Given the description of an element on the screen output the (x, y) to click on. 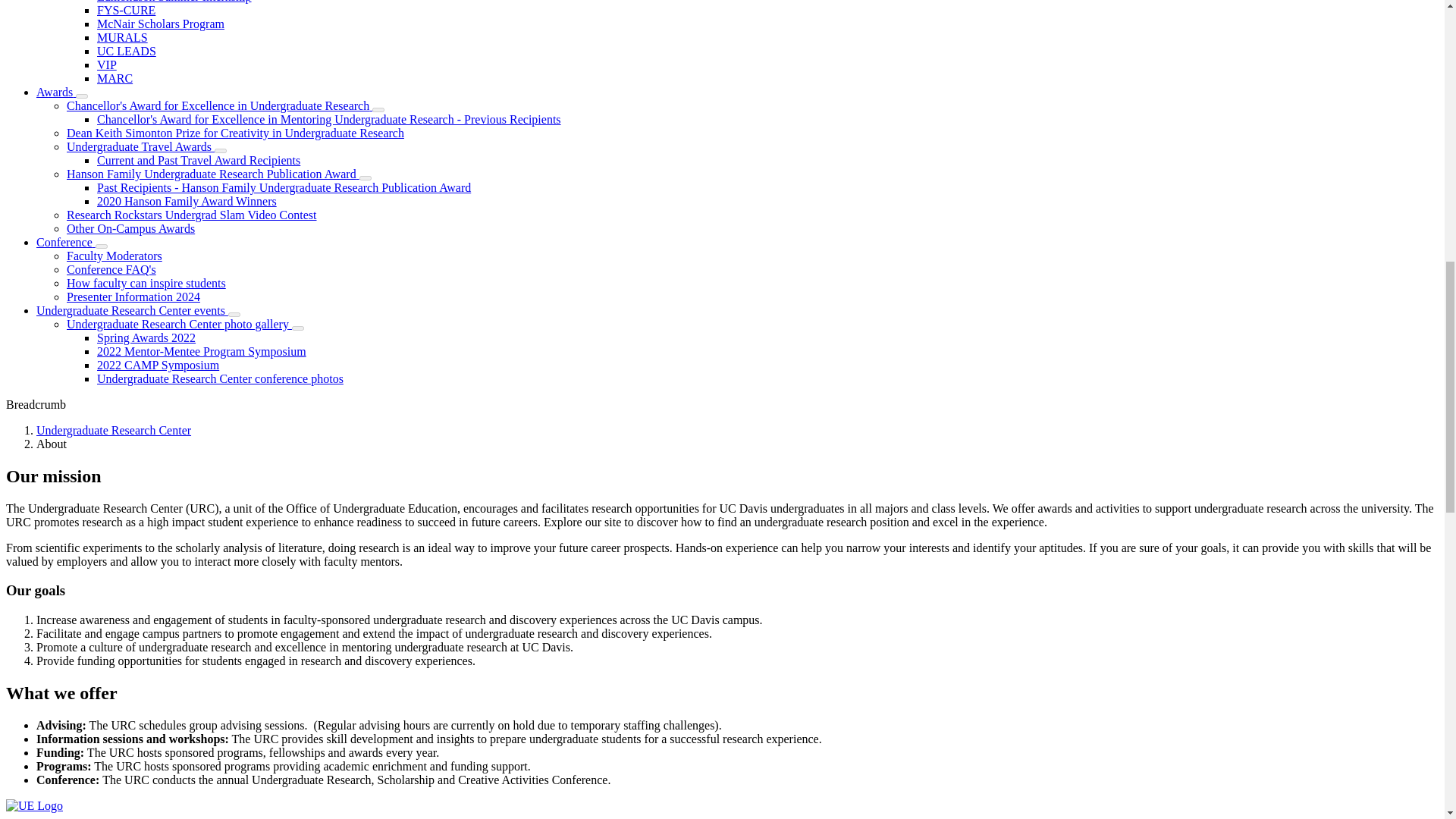
Events hosted by the URC (132, 309)
